Given the description of an element on the screen output the (x, y) to click on. 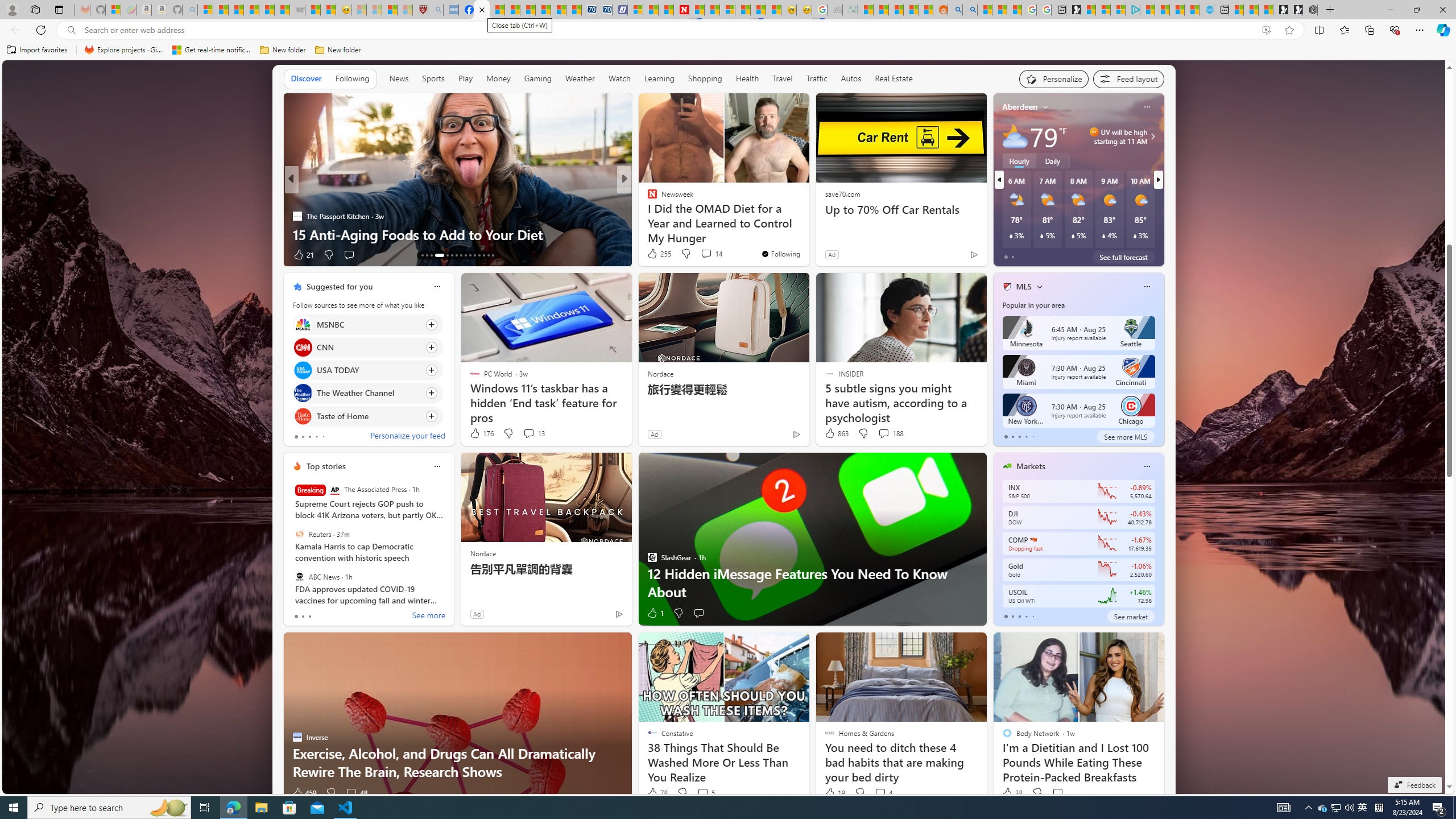
View comments 228 Comment (705, 254)
38 Like (1010, 792)
Best Clean Eating (647, 197)
AutomationID: tab-68 (431, 255)
19 Like (834, 792)
78 Like (657, 792)
